Given the description of an element on the screen output the (x, y) to click on. 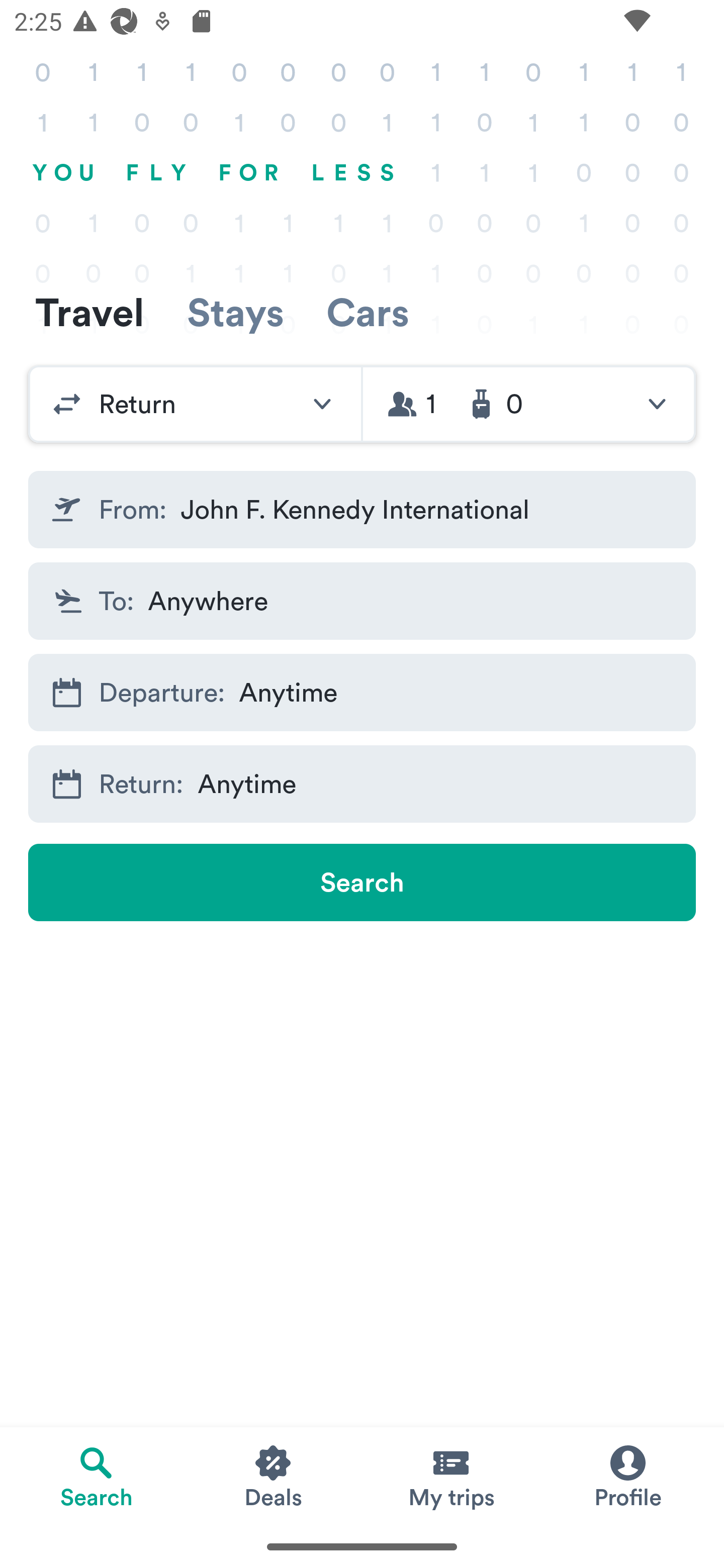
Travel (89, 311)
Stays (235, 311)
Cars (367, 311)
Return (194, 404)
Passengers 1 Bags 0 (528, 404)
From: John F. Kennedy International (361, 509)
To: Anywhere (361, 600)
Departure: Anytime (361, 692)
Return: Anytime (361, 783)
Search (361, 882)
Deals (273, 1475)
My trips (450, 1475)
Profile (627, 1475)
